Given the description of an element on the screen output the (x, y) to click on. 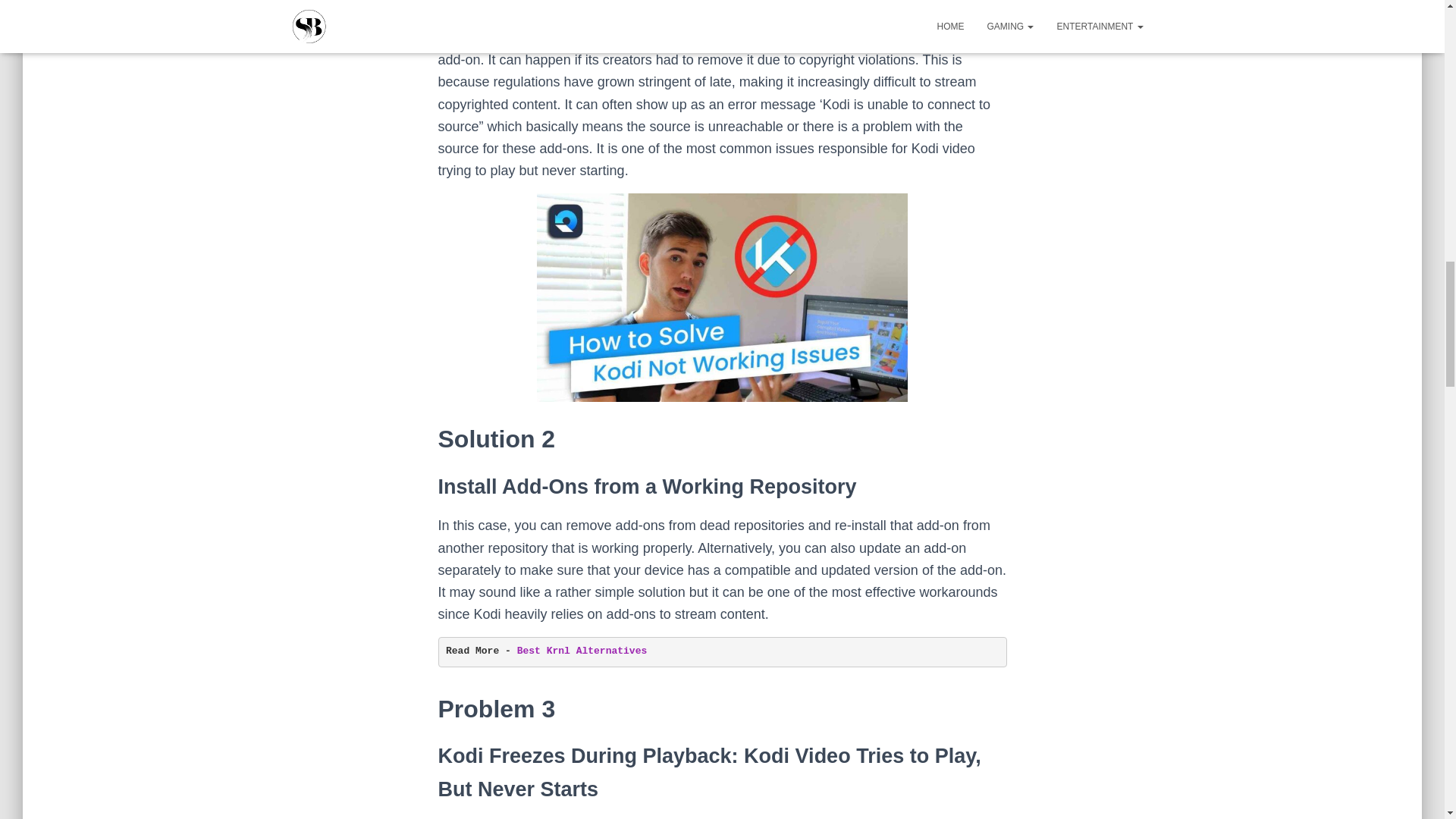
Best Krnl Alternatives (581, 650)
